Given the description of an element on the screen output the (x, y) to click on. 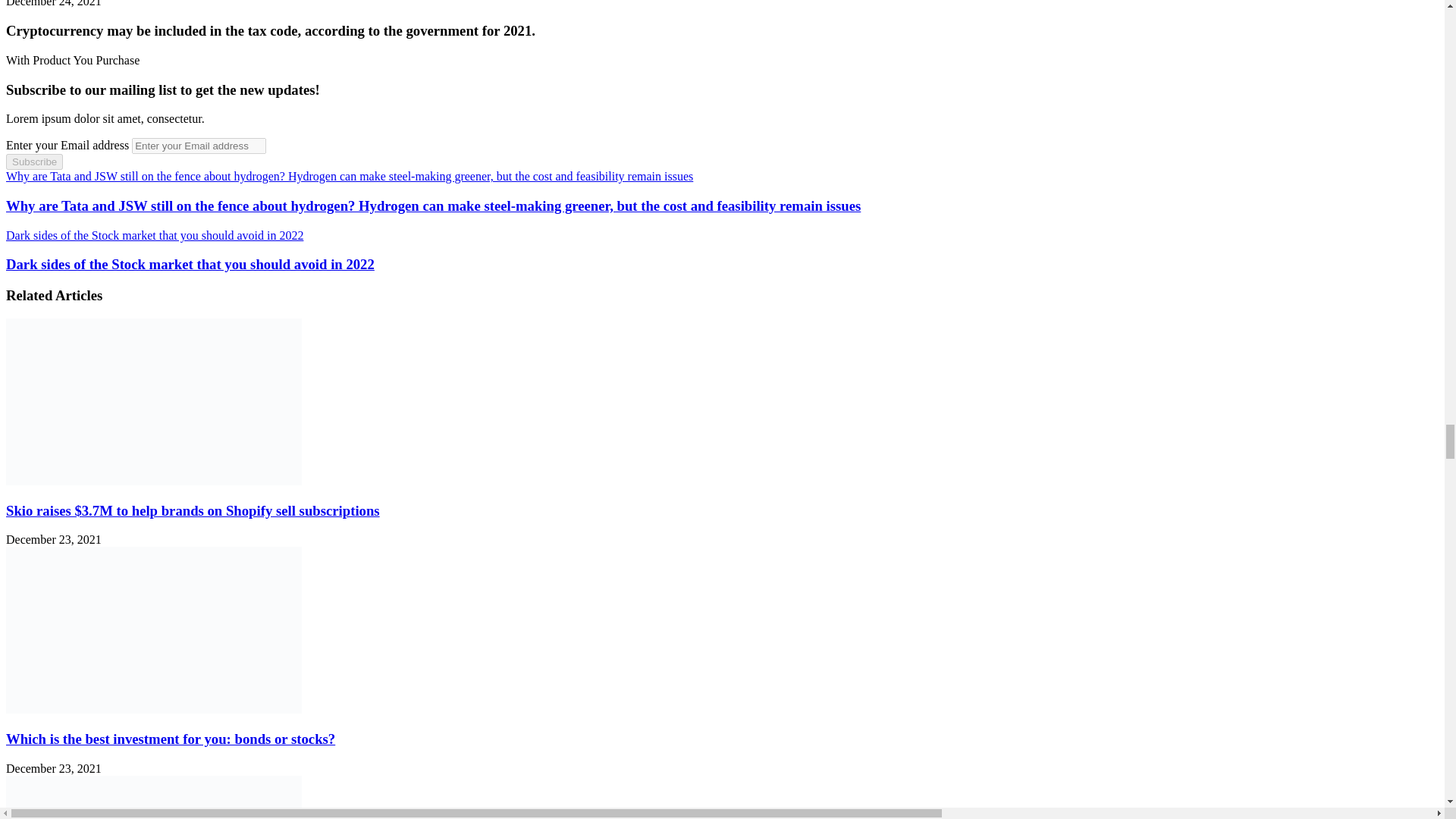
Subscribe (33, 161)
